Given the description of an element on the screen output the (x, y) to click on. 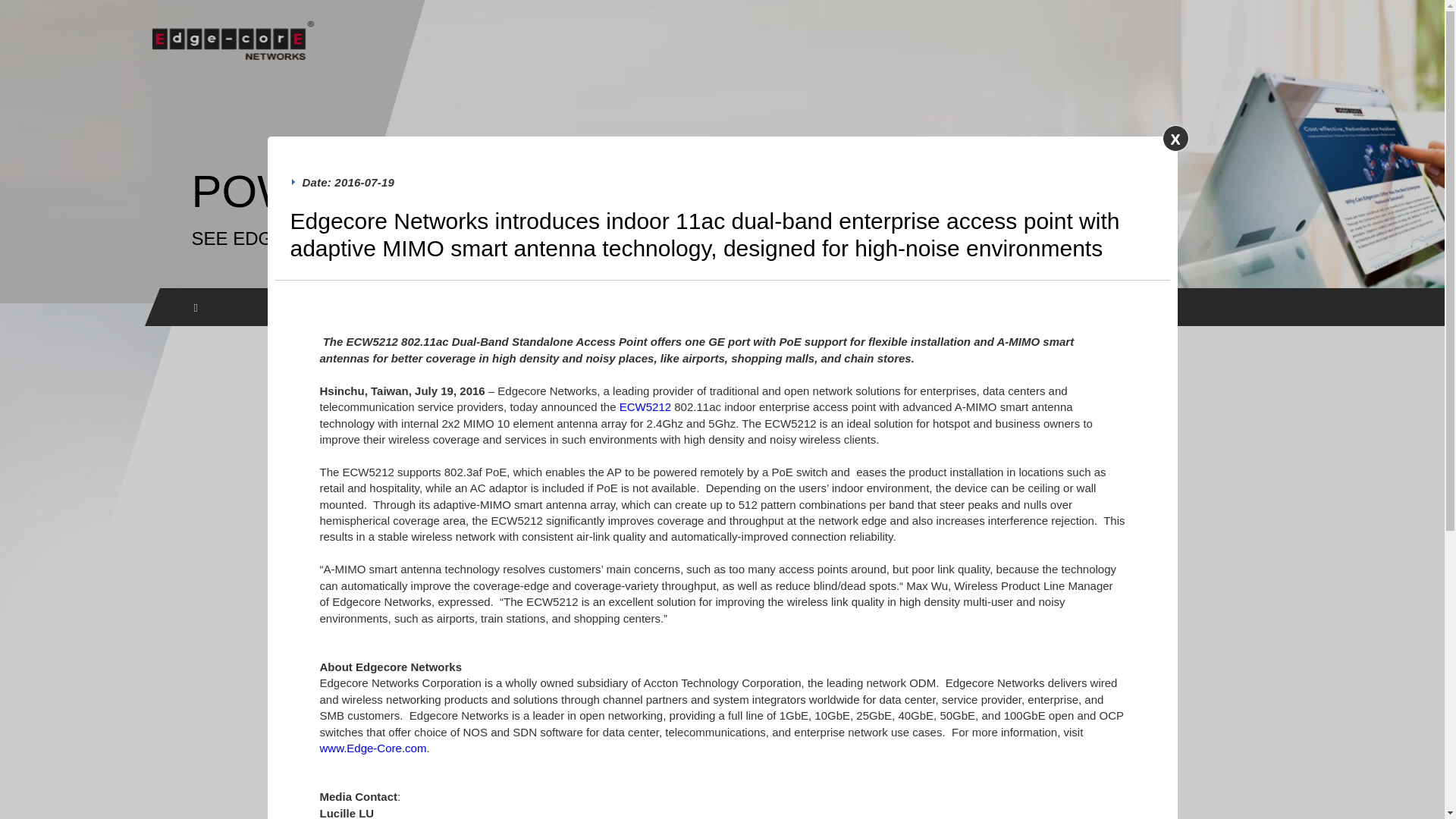
Home (195, 307)
Edgecore Networks (232, 43)
www.Edge-Core.com (373, 748)
Edgecore Networks (232, 43)
ECW5212 (645, 406)
